Given the description of an element on the screen output the (x, y) to click on. 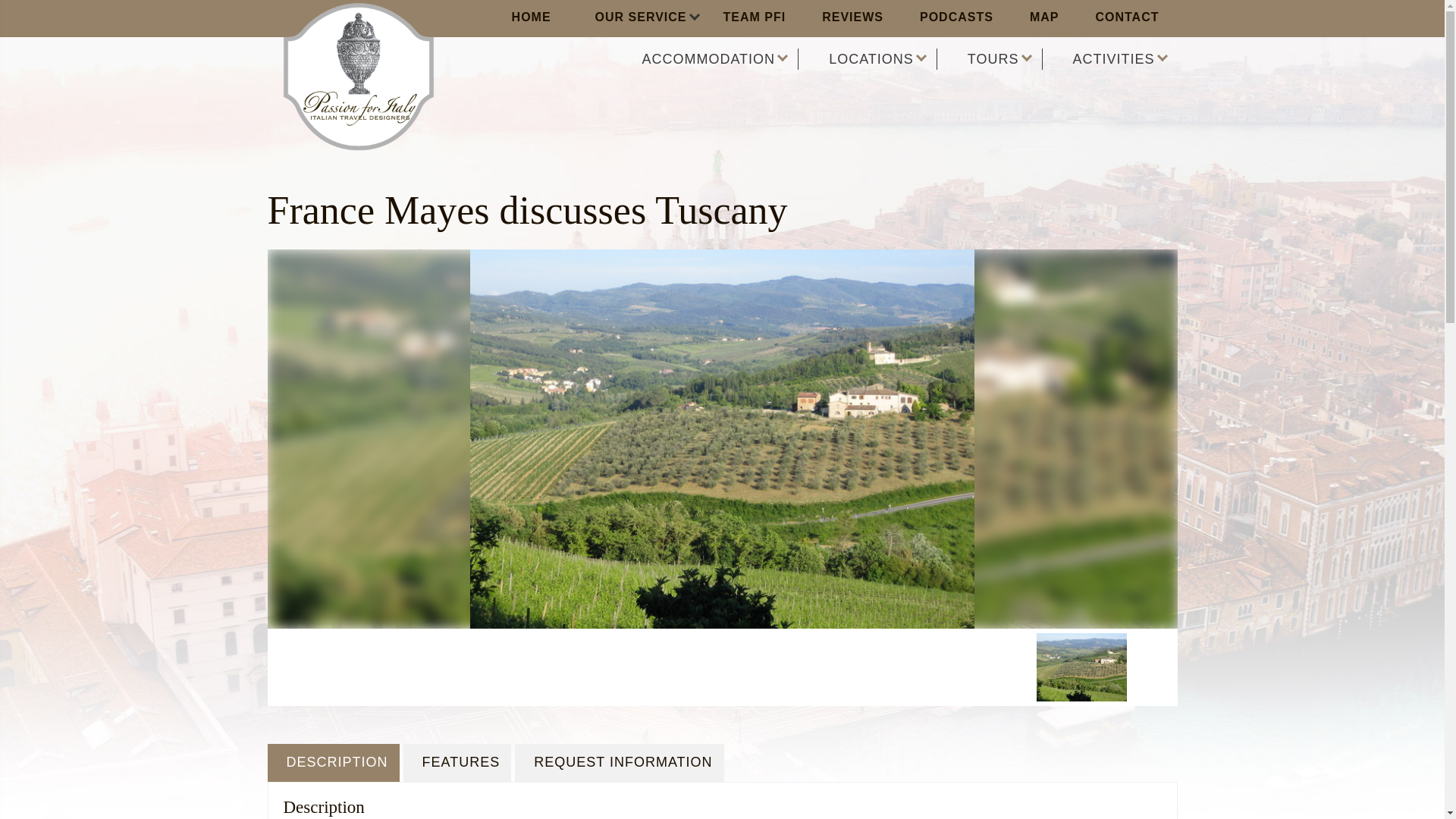
OUR SERVICE (637, 18)
ACTIVITIES (1120, 58)
ACCOMMODATION (715, 58)
HOME (531, 18)
PFI-logo-white (357, 75)
TEAM PFI (754, 18)
PODCASTS (956, 18)
TOURS (1000, 58)
MAP (1044, 18)
LOCATIONS (879, 58)
REVIEWS (852, 18)
CONTACT (1126, 18)
